Given the description of an element on the screen output the (x, y) to click on. 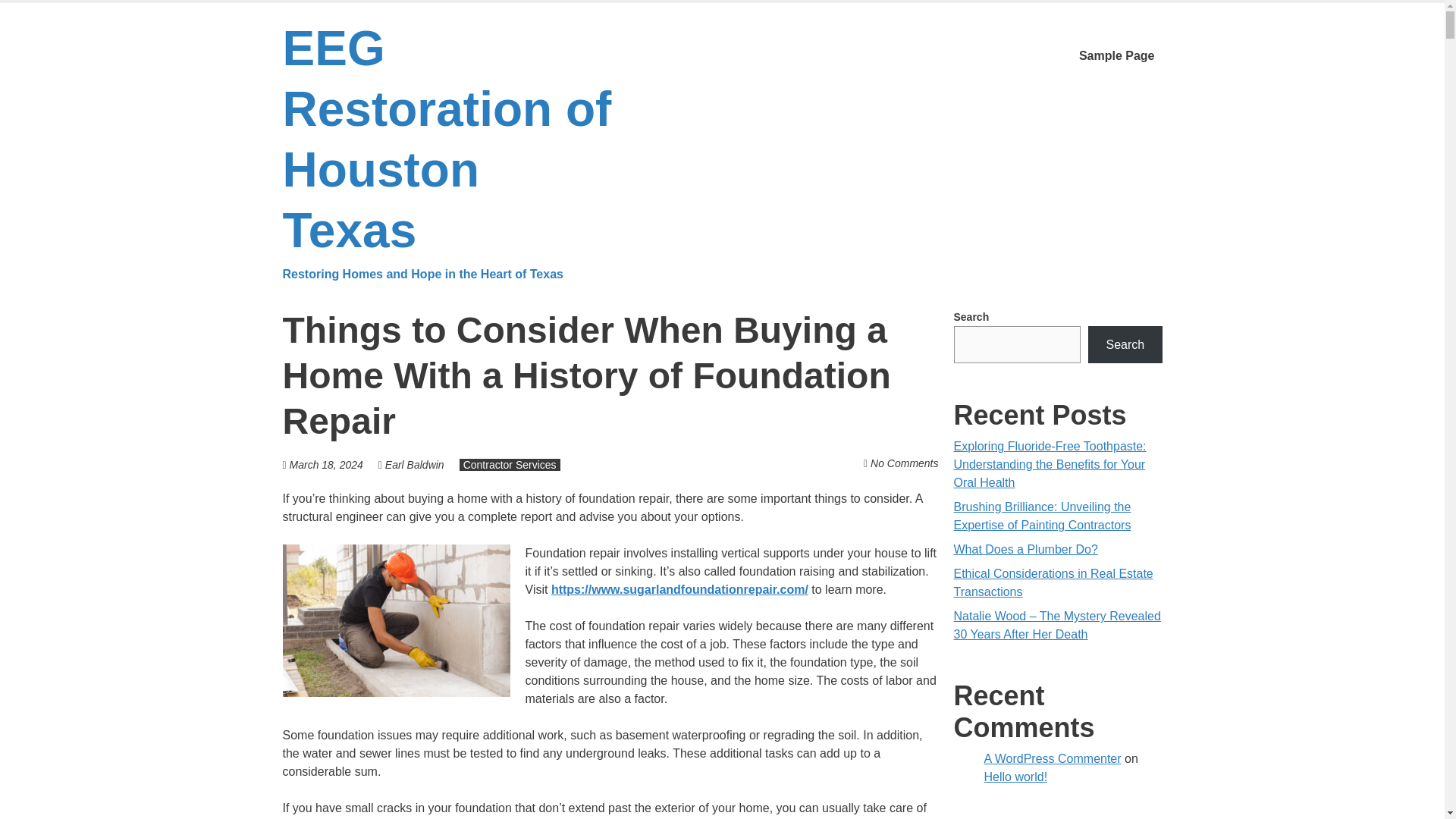
EEG Restoration of Houston Texas (453, 151)
View all posts by Earl Baldwin (414, 464)
March 18, 2024 (325, 464)
Contractor Services (510, 464)
Sample Page (1116, 55)
No Comments (903, 463)
Earl Baldwin (414, 464)
